Given the description of an element on the screen output the (x, y) to click on. 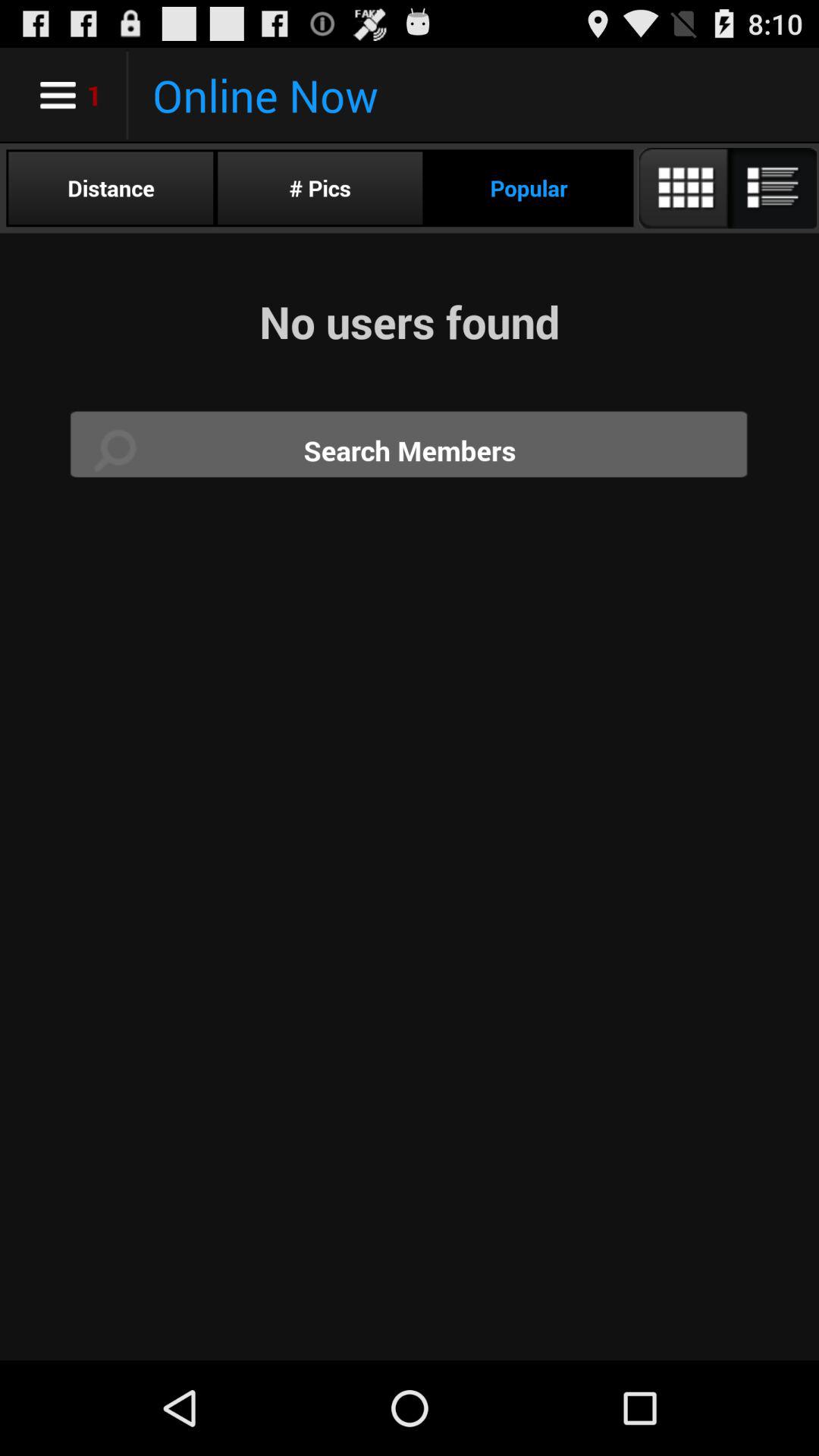
turn off icon above no users found app (726, 187)
